Given the description of an element on the screen output the (x, y) to click on. 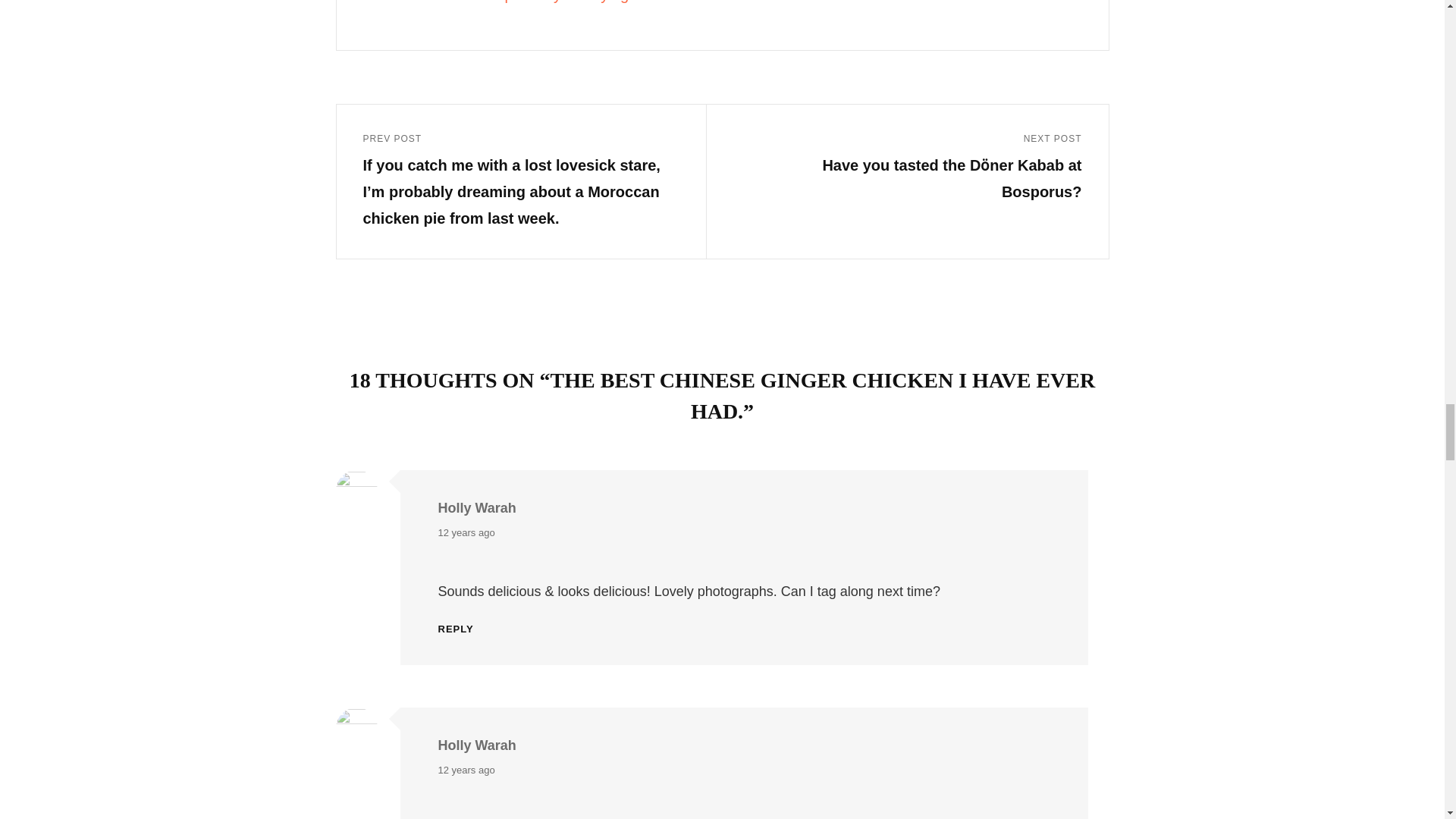
View all posts by InaFryingPan (757, 4)
12 years ago (466, 532)
12 years ago (466, 770)
REPLY (456, 628)
